Given the description of an element on the screen output the (x, y) to click on. 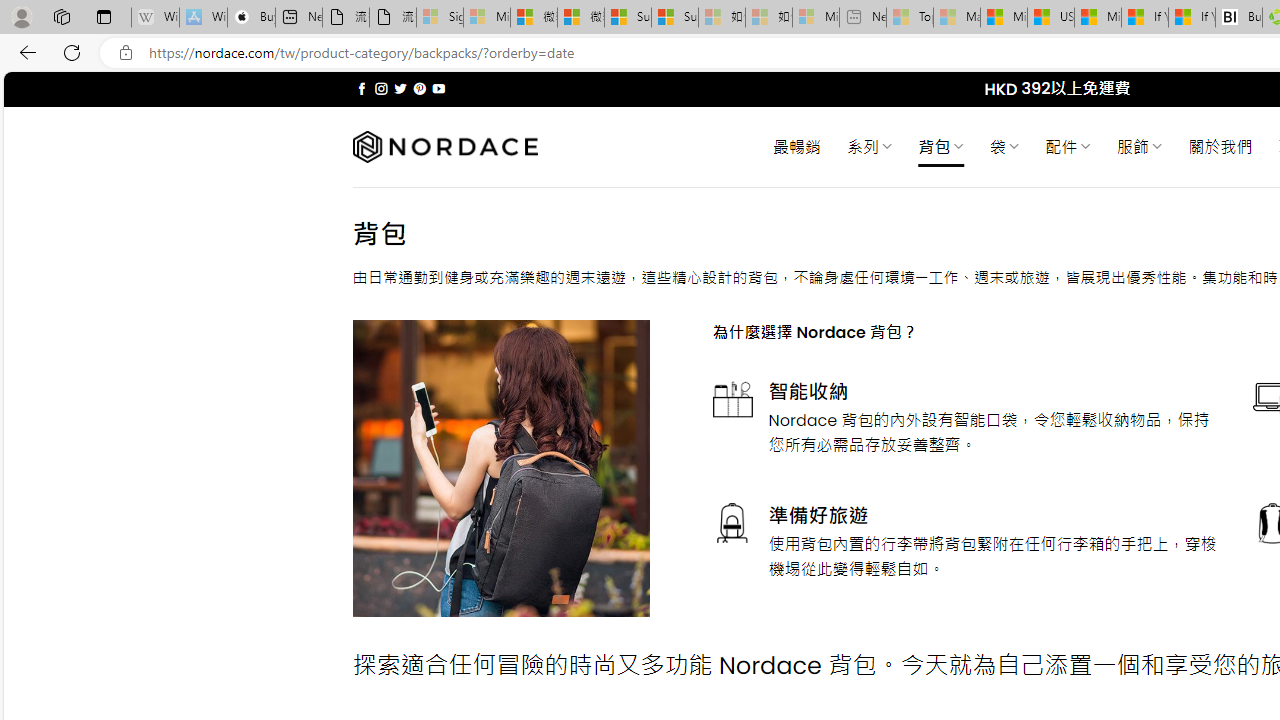
Follow on Facebook (361, 88)
Microsoft account | Account Checkup - Sleeping (815, 17)
US Heat Deaths Soared To Record High Last Year (1050, 17)
Follow on YouTube (438, 88)
